Given the description of an element on the screen output the (x, y) to click on. 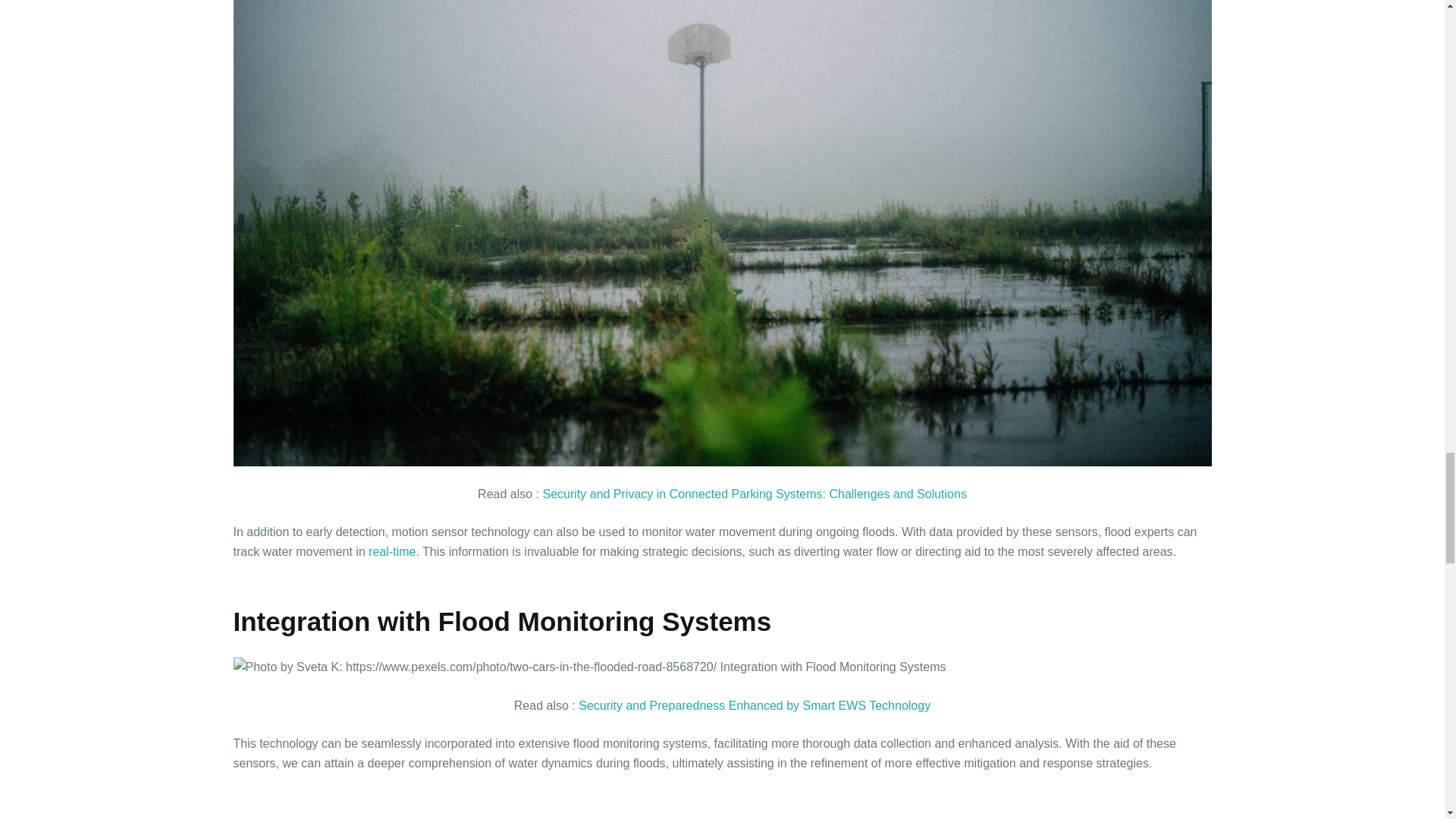
real-time (391, 551)
Security and Preparedness Enhanced by Smart EWS Technology (754, 705)
